Given the description of an element on the screen output the (x, y) to click on. 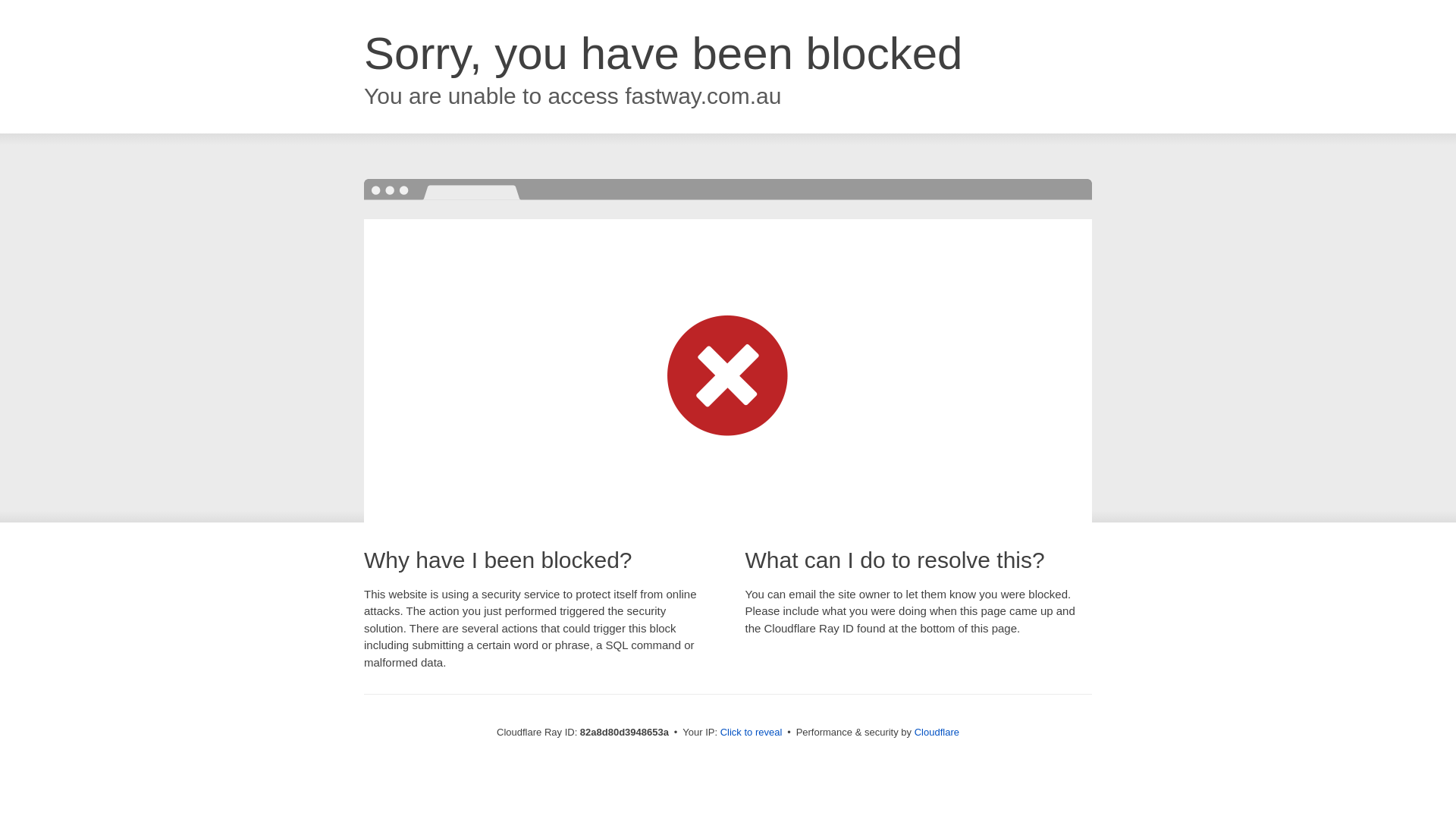
Cloudflare Element type: text (936, 731)
Click to reveal Element type: text (751, 732)
